Given the description of an element on the screen output the (x, y) to click on. 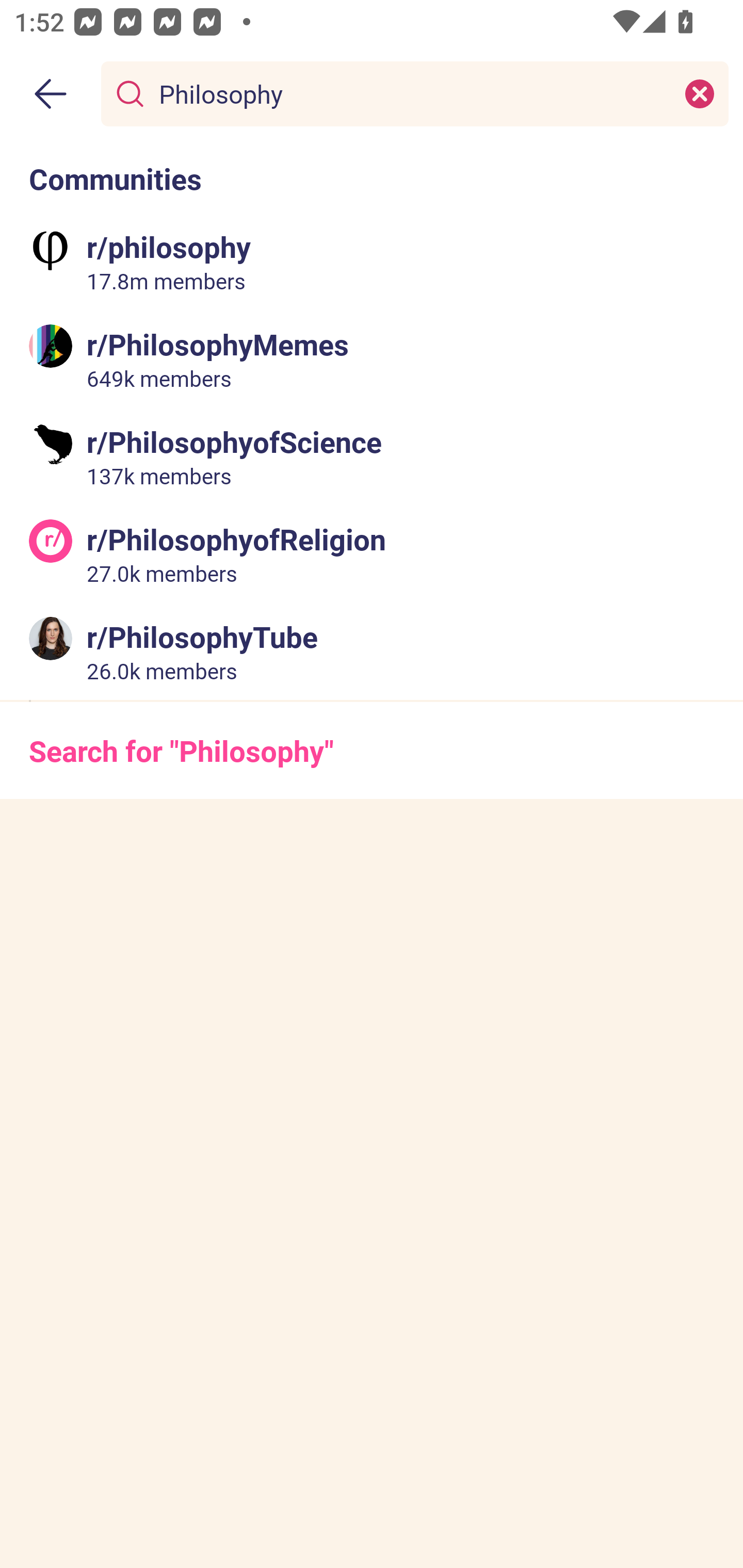
Back (50, 93)
Philosophy (410, 93)
Clear search (699, 93)
r/philosophy 17.8m members 17.8 million members (371, 261)
Search for "Philosophy" (371, 750)
